Given the description of an element on the screen output the (x, y) to click on. 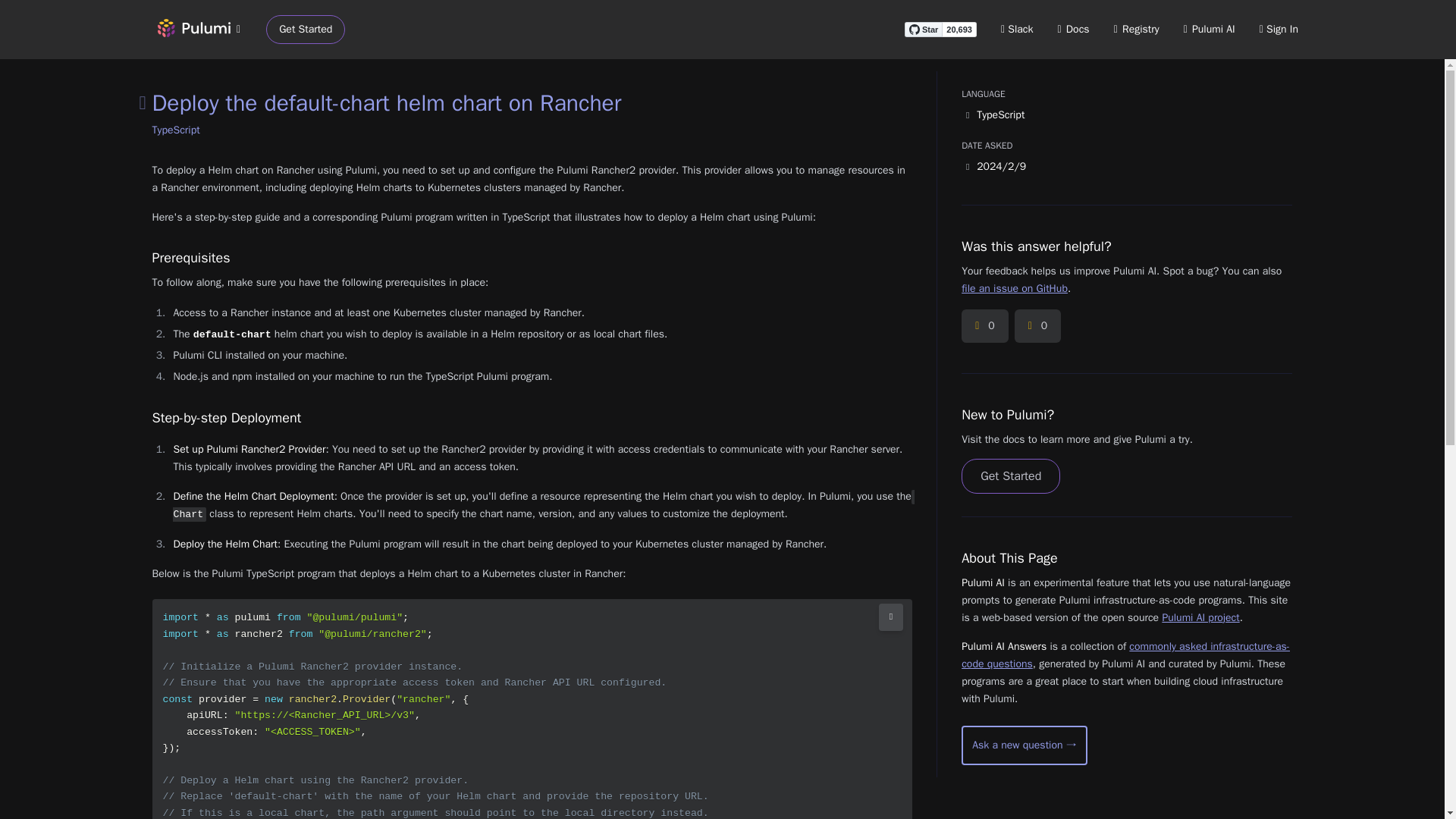
Upvote this answer (984, 326)
 Star (923, 29)
Registry (1135, 29)
Sign In (1278, 29)
20,693 (959, 29)
Docs (1073, 29)
Start a new conversation with Pulumi AI (1023, 744)
Pulumi AI (1208, 29)
0 (1037, 326)
Downvote this answer (1037, 326)
Get Started (305, 29)
0 (984, 326)
Slack (1017, 29)
file an issue on GitHub (1013, 287)
